Given the description of an element on the screen output the (x, y) to click on. 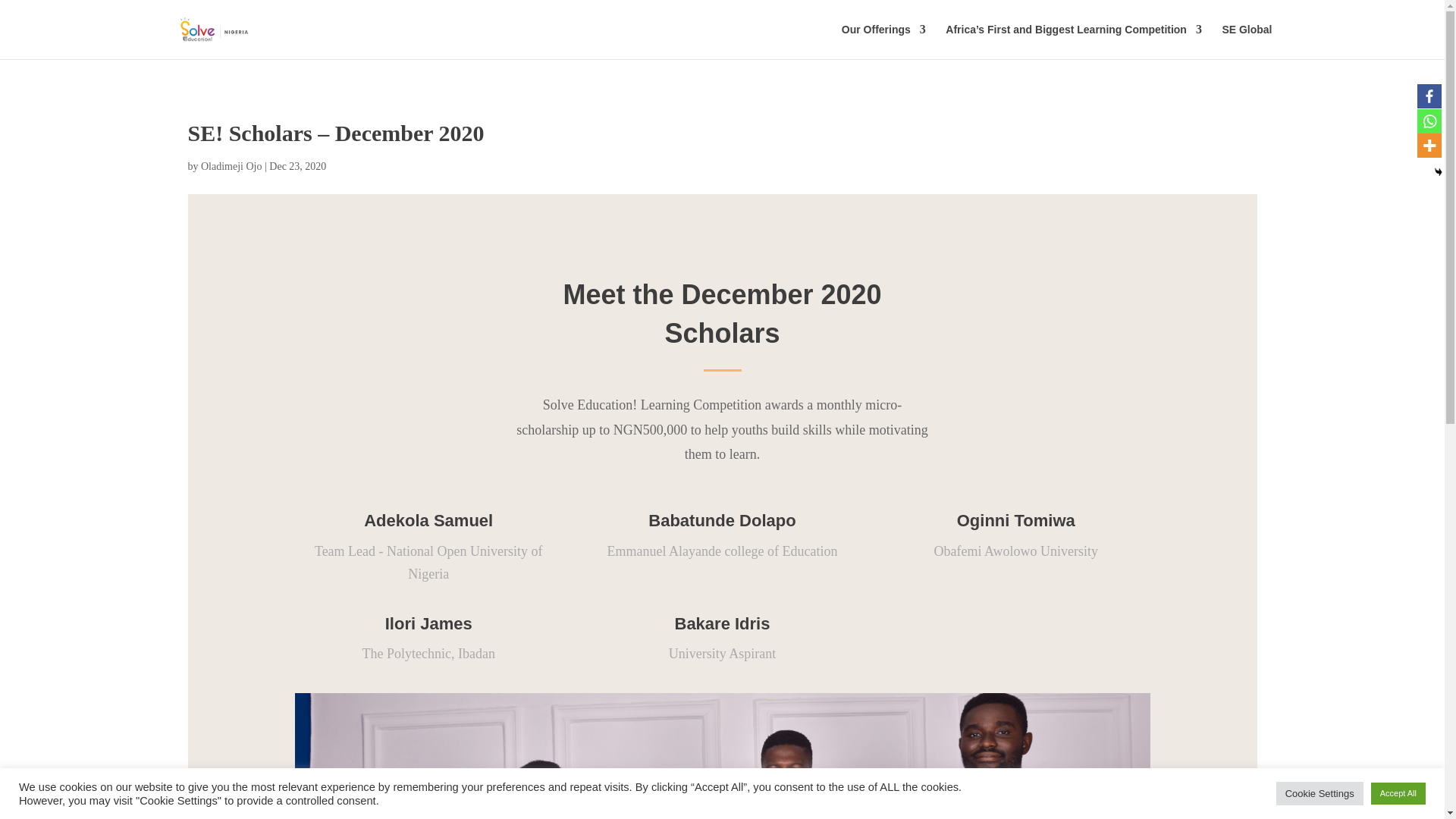
SE Global (1246, 41)
Oladimeji Ojo (231, 165)
More (1428, 145)
Cookie Settings (1319, 793)
Ed learning challenge (722, 755)
Facebook (1428, 96)
Accept All (1398, 793)
Posts by Oladimeji Ojo (231, 165)
Whatsapp (1428, 120)
Our Offerings (883, 41)
